Given the description of an element on the screen output the (x, y) to click on. 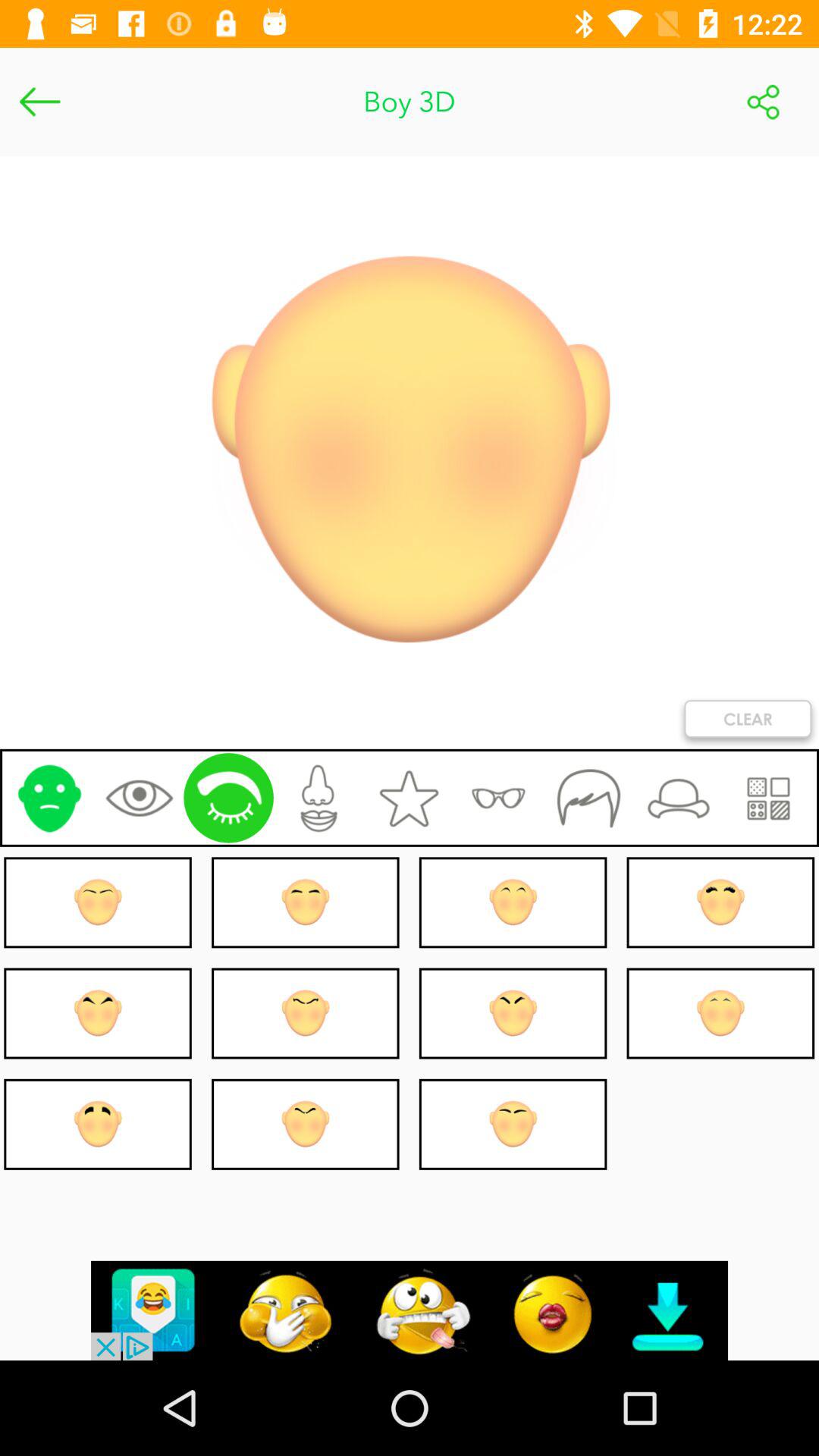
go back icon (40, 101)
